Given the description of an element on the screen output the (x, y) to click on. 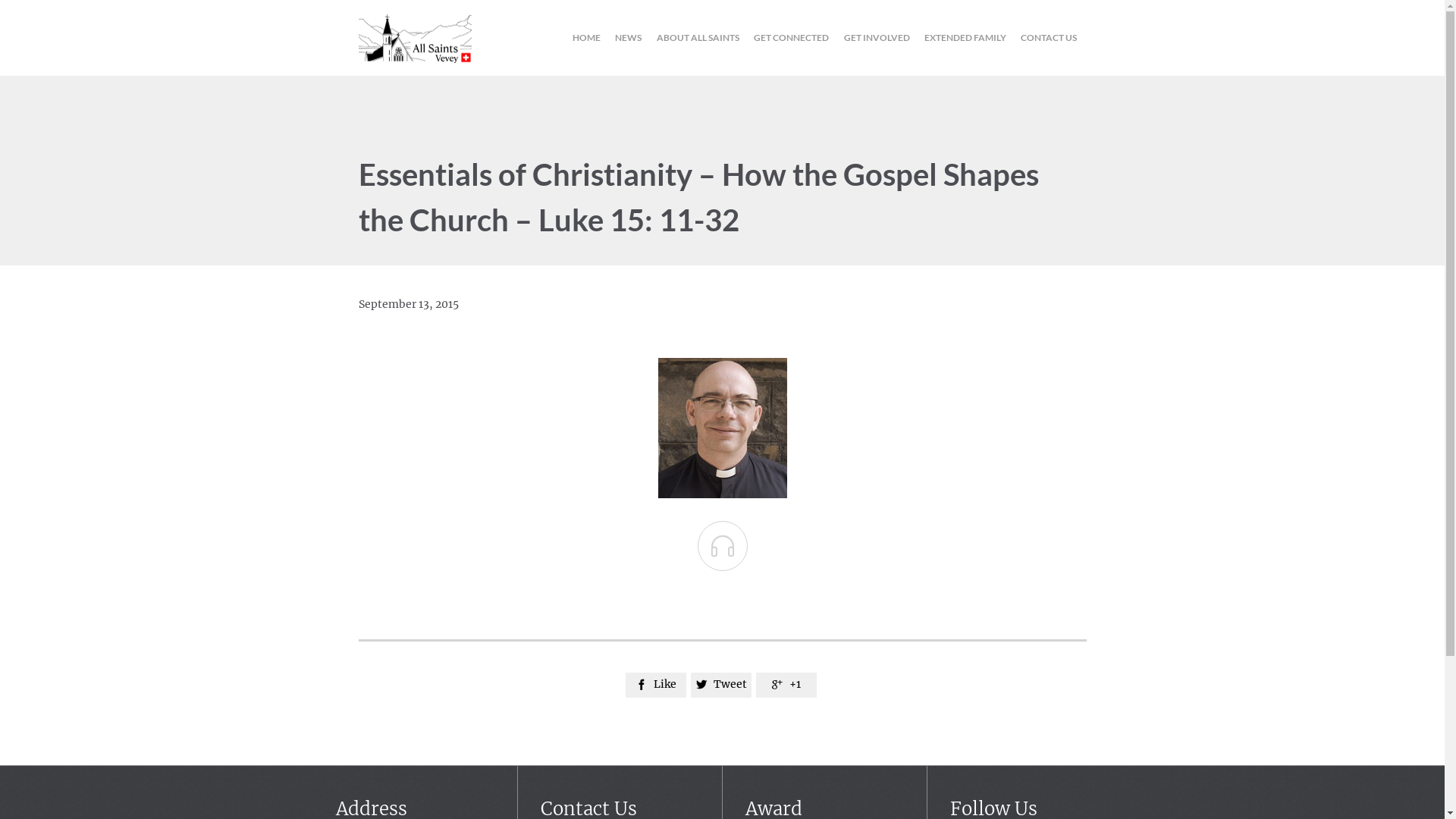
CONTACT US Element type: text (1048, 37)
ABOUT ALL SAINTS Element type: text (697, 37)
All Saints Church Vevey Element type: hover (413, 37)
GET CONNECTED Element type: text (791, 37)
Skip to content Element type: text (1085, 21)
GET INVOLVED Element type: text (875, 37)
HOME Element type: text (586, 37)
NEWS Element type: text (627, 37)
EXTENDED FAMILY Element type: text (965, 37)
